Given the description of an element on the screen output the (x, y) to click on. 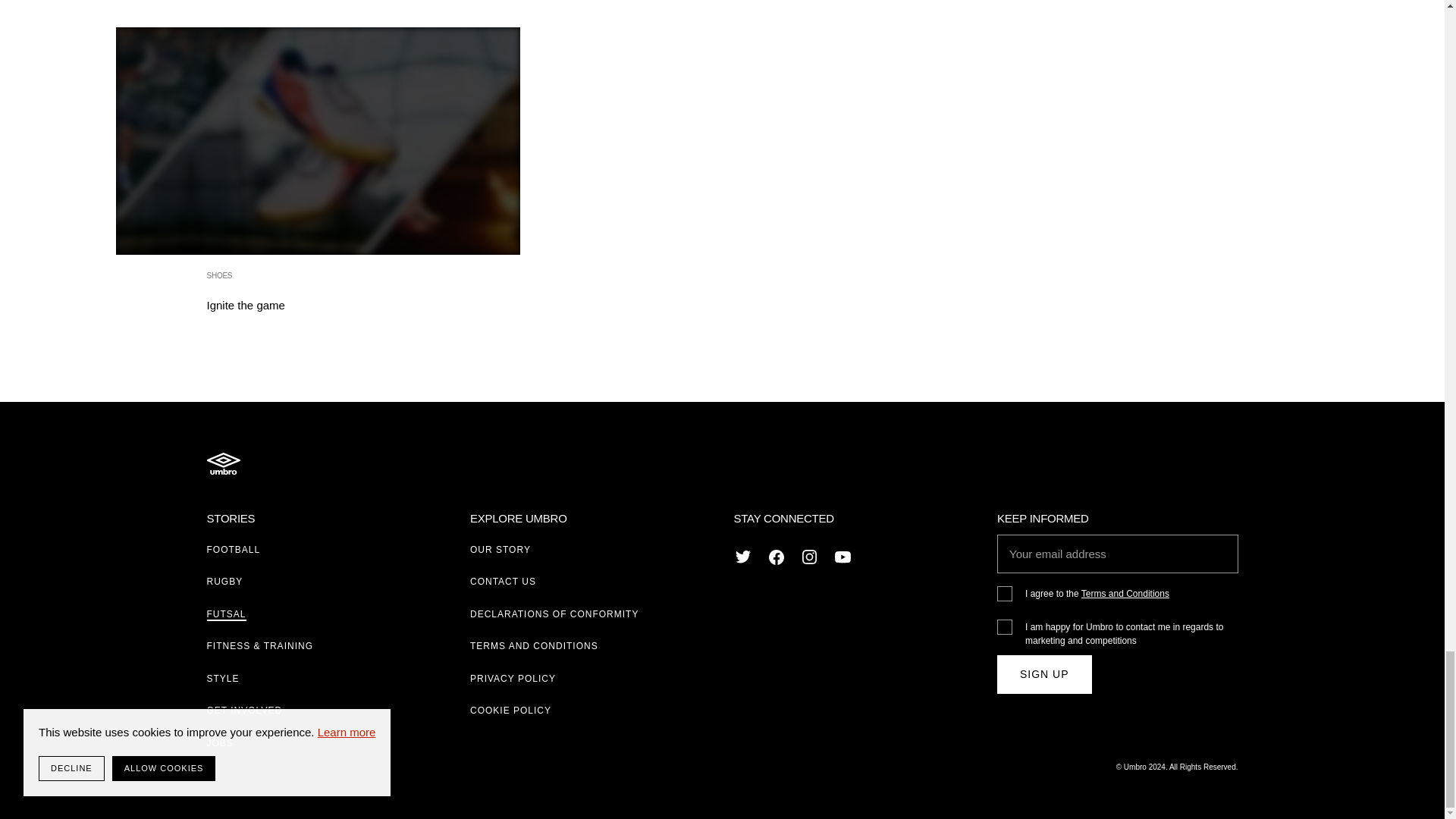
OUR STORY (500, 549)
Instagram (810, 557)
YouTube (843, 557)
Facebook (776, 557)
Terms and Conditions (1125, 593)
TERMS AND CONDITIONS (534, 645)
CONTACT US (502, 581)
PRIVACY POLICY (513, 678)
